Given the description of an element on the screen output the (x, y) to click on. 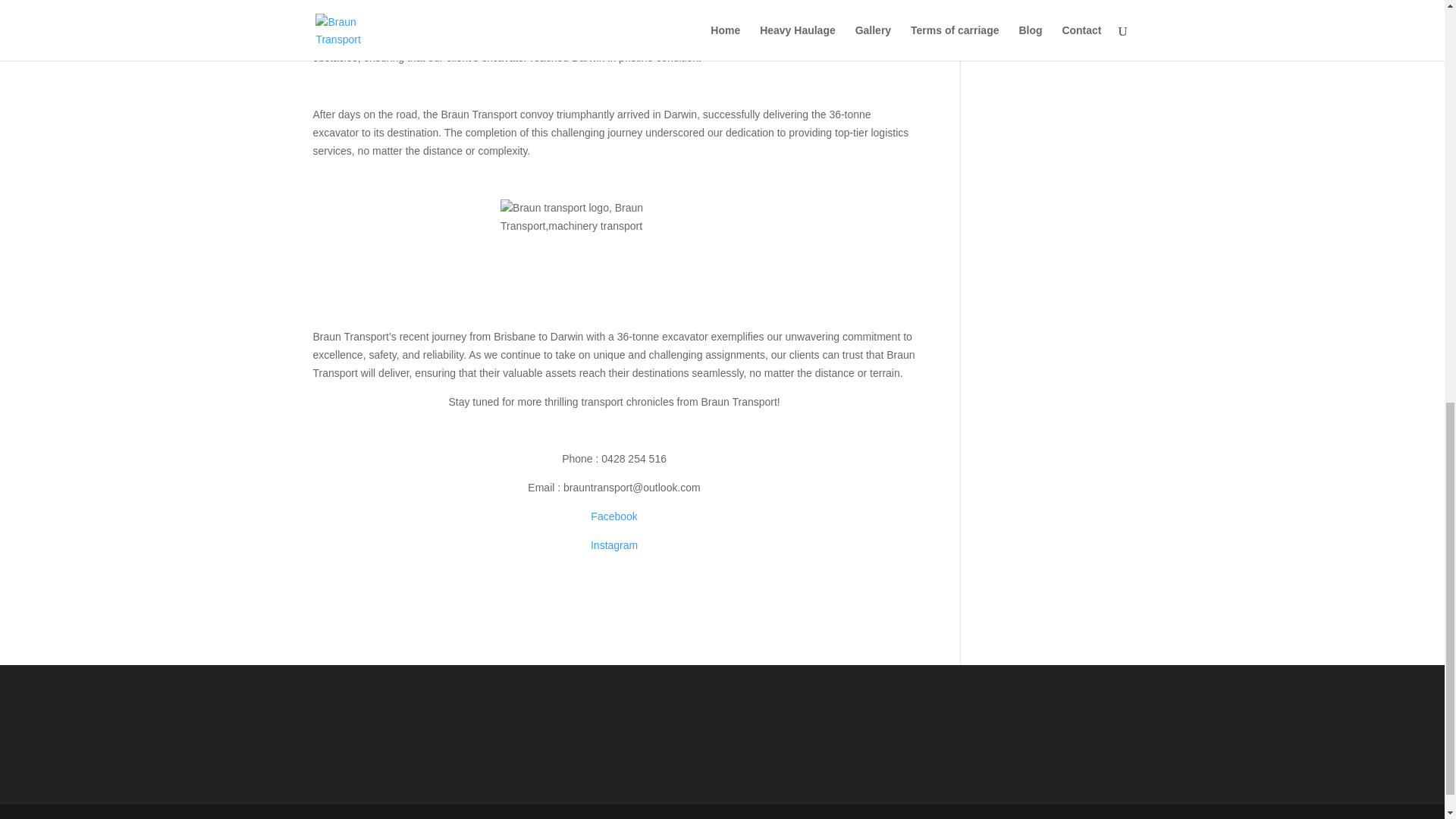
Facebook (614, 516)
Instagram (614, 544)
